Given the description of an element on the screen output the (x, y) to click on. 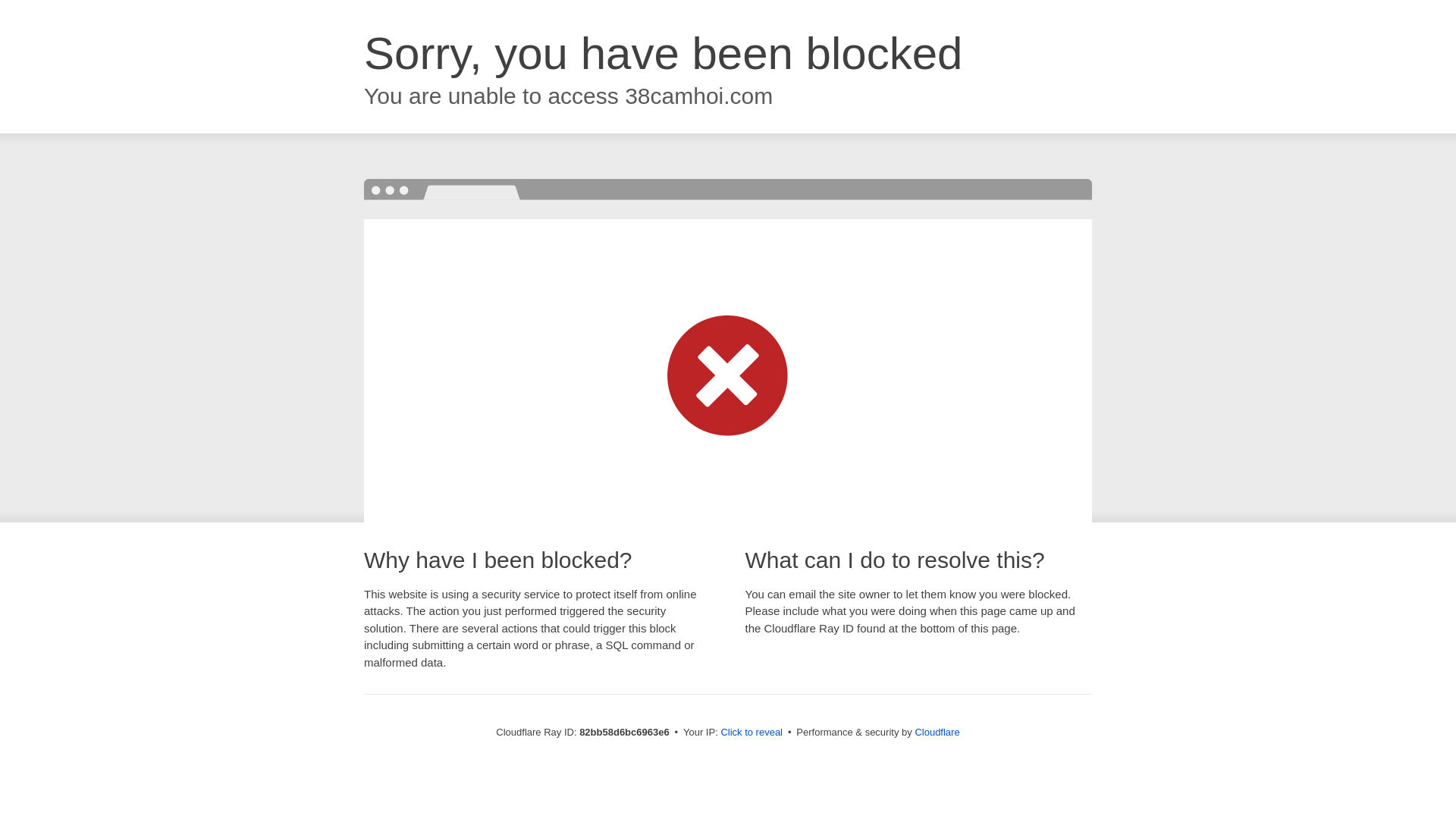
Click to reveal Element type: text (751, 732)
Cloudflare Element type: text (936, 731)
